Given the description of an element on the screen output the (x, y) to click on. 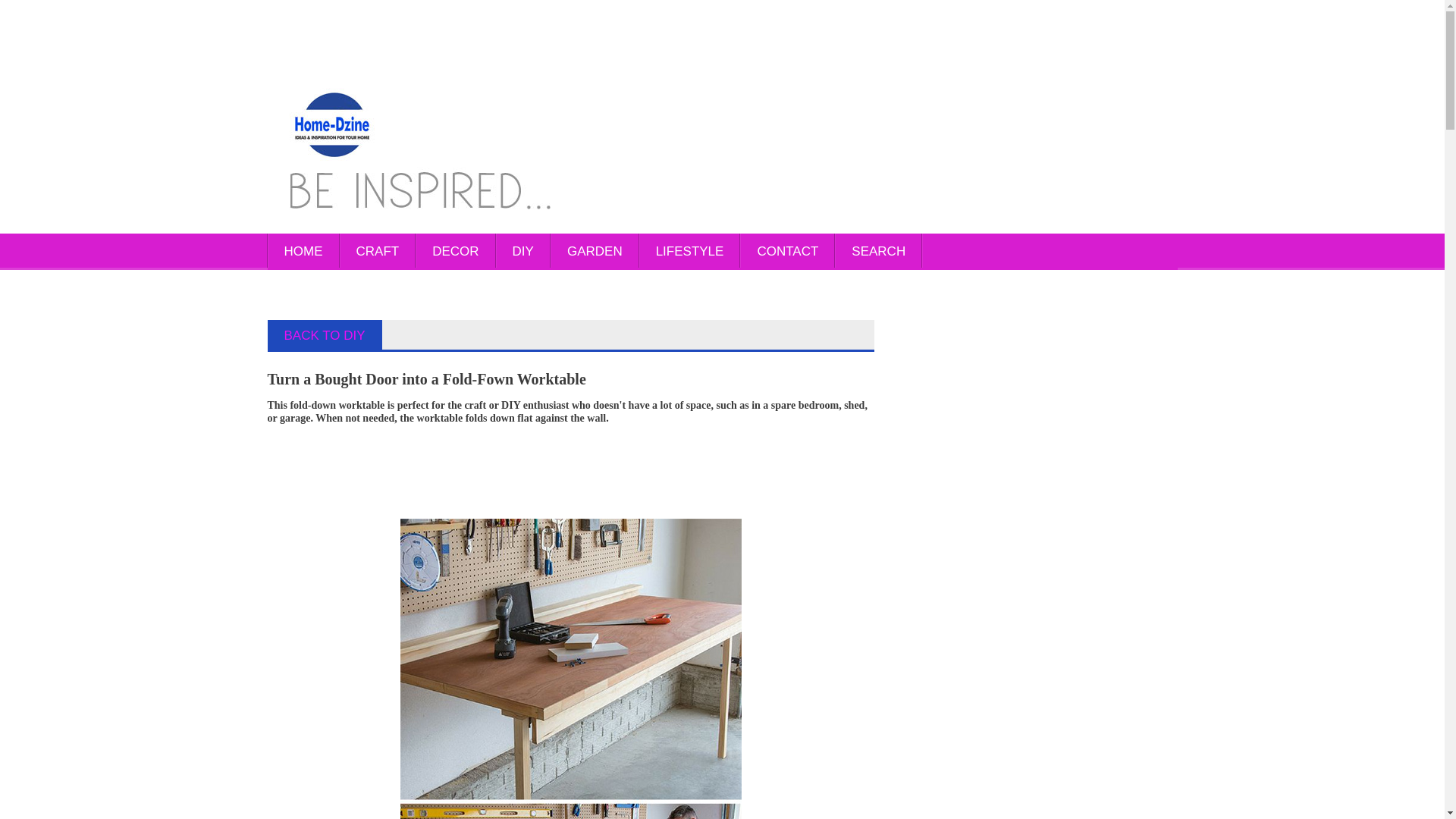
GARDEN (594, 251)
HOME (302, 251)
DECOR (454, 251)
LIFESTYLE (690, 251)
BACK TO DIY (324, 335)
DIY (523, 251)
SEARCH (877, 251)
CRAFT (377, 251)
CONTACT (786, 251)
